Given the description of an element on the screen output the (x, y) to click on. 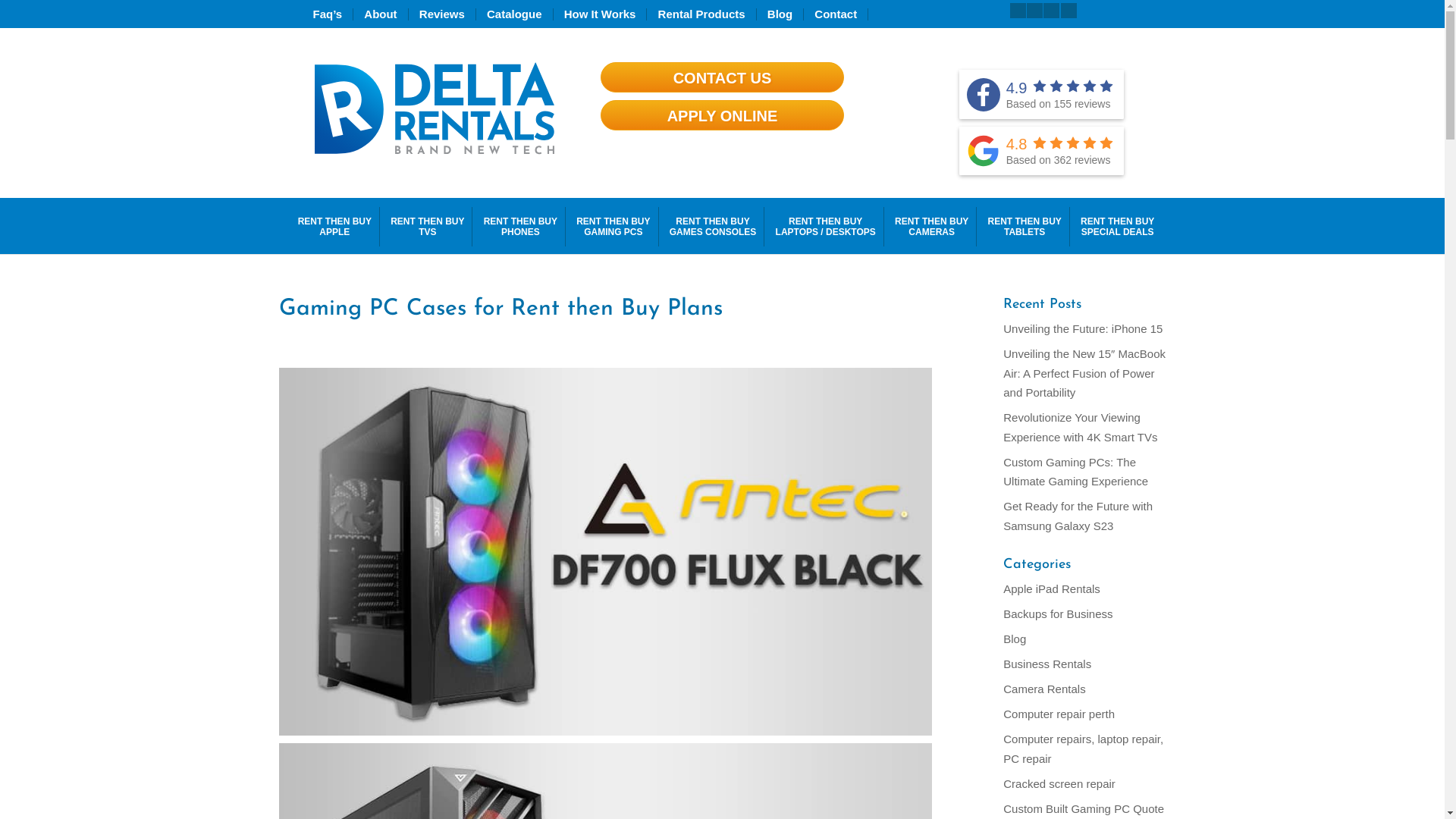
RENT THEN BUY
TABLETS Element type: text (1023, 226)
Rental Products Element type: text (707, 14)
RENT THEN BUY
APPLE Element type: text (334, 226)
Apple iPad Rentals Element type: text (1051, 588)
Revolutionize Your Viewing Experience with 4K Smart TVs Element type: text (1080, 427)
RENT THEN BUY
GAMING PCS Element type: text (612, 226)
RENT THEN BUY
GAMES CONSOLES Element type: text (712, 226)
How It Works Element type: text (605, 14)
Business Rentals Element type: text (1047, 663)
RENT THEN BUY
LAPTOPS / DESKTOPS Element type: text (825, 226)
RENT THEN BUY
CAMERAS Element type: text (931, 226)
Catalogue Element type: text (519, 14)
Get Ready for the Future with Samsung Galaxy S23 Element type: text (1077, 515)
Camera Rentals Element type: text (1044, 688)
Cracked screen repair Element type: text (1059, 783)
CONTACT US Element type: text (721, 77)
Reviews Element type: text (447, 14)
Contact Element type: text (841, 14)
Unveiling the Future: iPhone 15 Element type: text (1082, 328)
Computer repair perth Element type: text (1058, 713)
RENT THEN BUY
TVS Element type: text (427, 226)
About Element type: text (385, 14)
RENT THEN BUY
PHONES Element type: text (520, 226)
Custom Gaming PCs: The Ultimate Gaming Experience Element type: text (1075, 471)
Blog Element type: text (785, 14)
RENT THEN BUY
SPECIAL DEALS Element type: text (1117, 226)
Blog Element type: text (1014, 638)
Backups for Business Element type: text (1057, 613)
Computer repairs, laptop repair, PC repair Element type: text (1083, 748)
APPLY ONLINE Element type: text (721, 115)
